Given the description of an element on the screen output the (x, y) to click on. 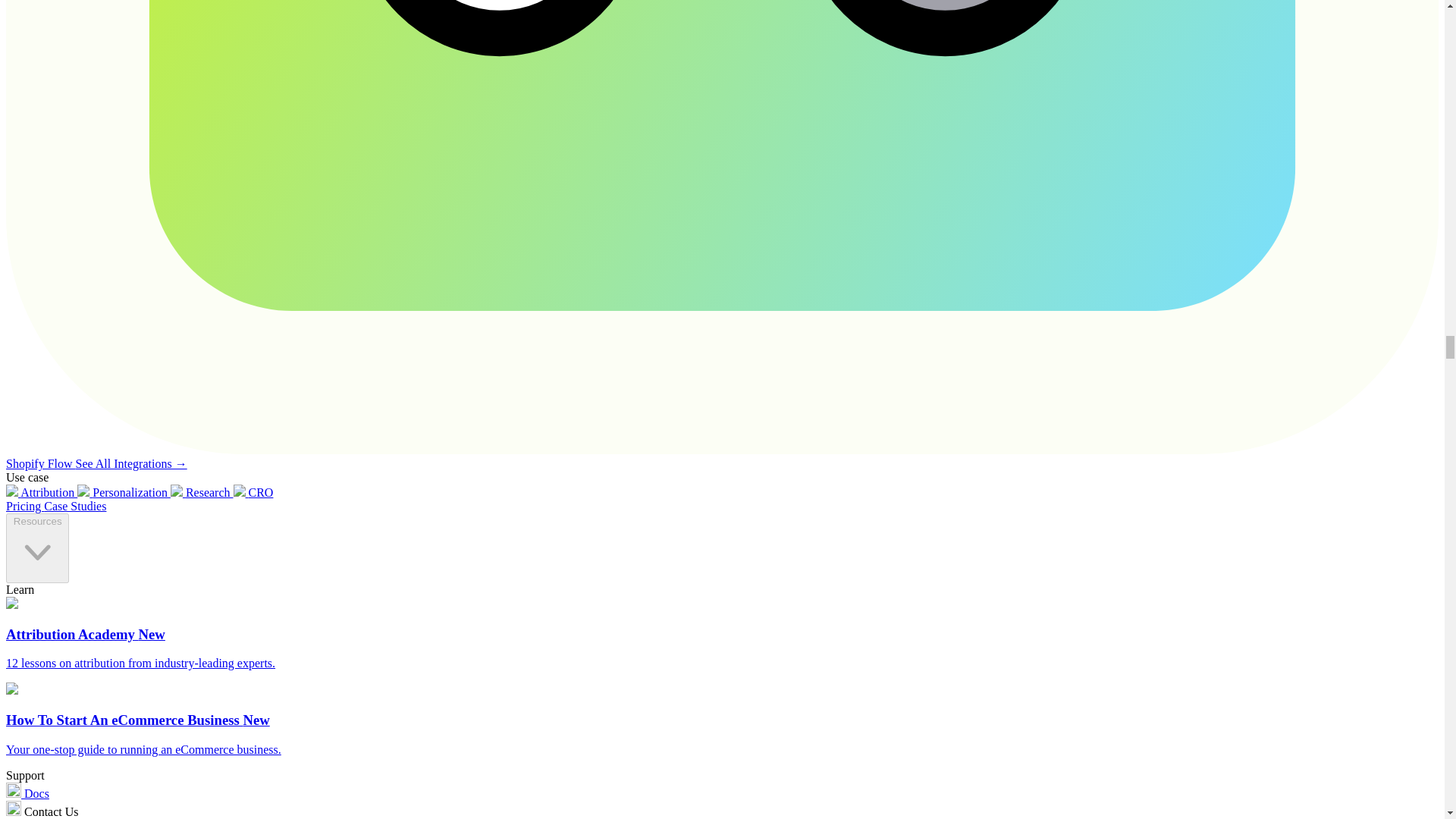
Docs (27, 793)
Case Studies (74, 505)
Pricing (24, 505)
Resources (36, 547)
Research (201, 492)
CRO (252, 492)
Personalization (123, 492)
Attribution (41, 492)
